Given the description of an element on the screen output the (x, y) to click on. 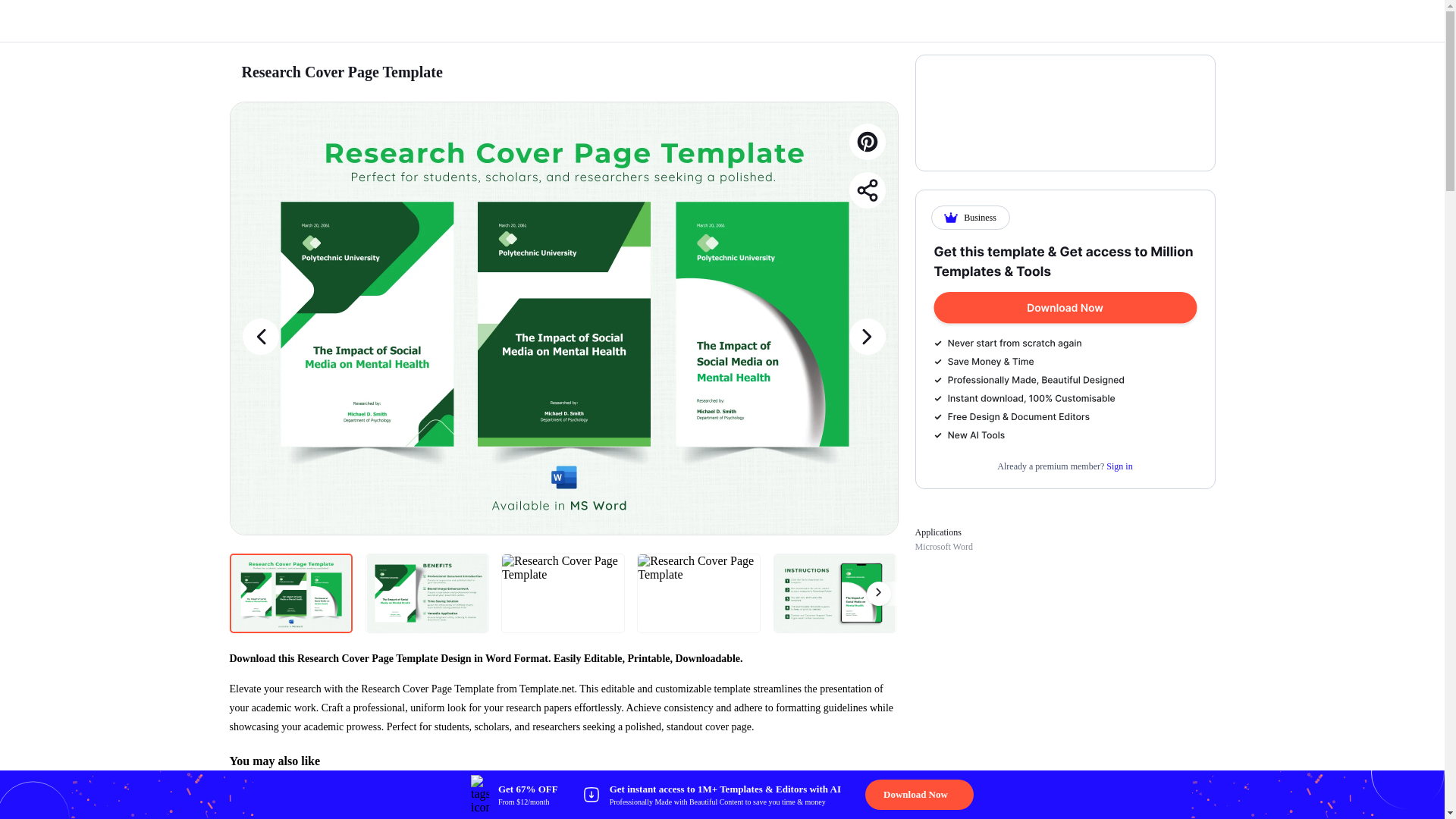
Microsoft Word (943, 546)
Banner Pricing Bundle (1065, 342)
